Given the description of an element on the screen output the (x, y) to click on. 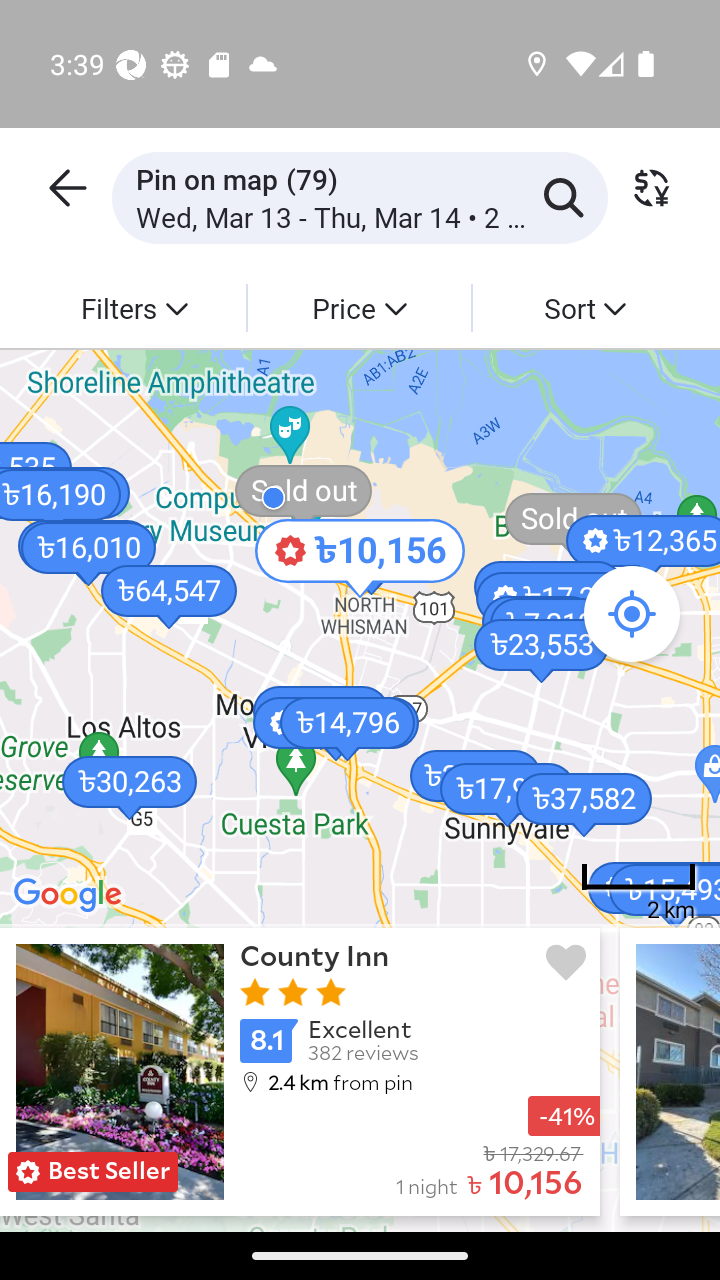
Filters (134, 307)
Price (358, 307)
Sort (584, 307)
